Given the description of an element on the screen output the (x, y) to click on. 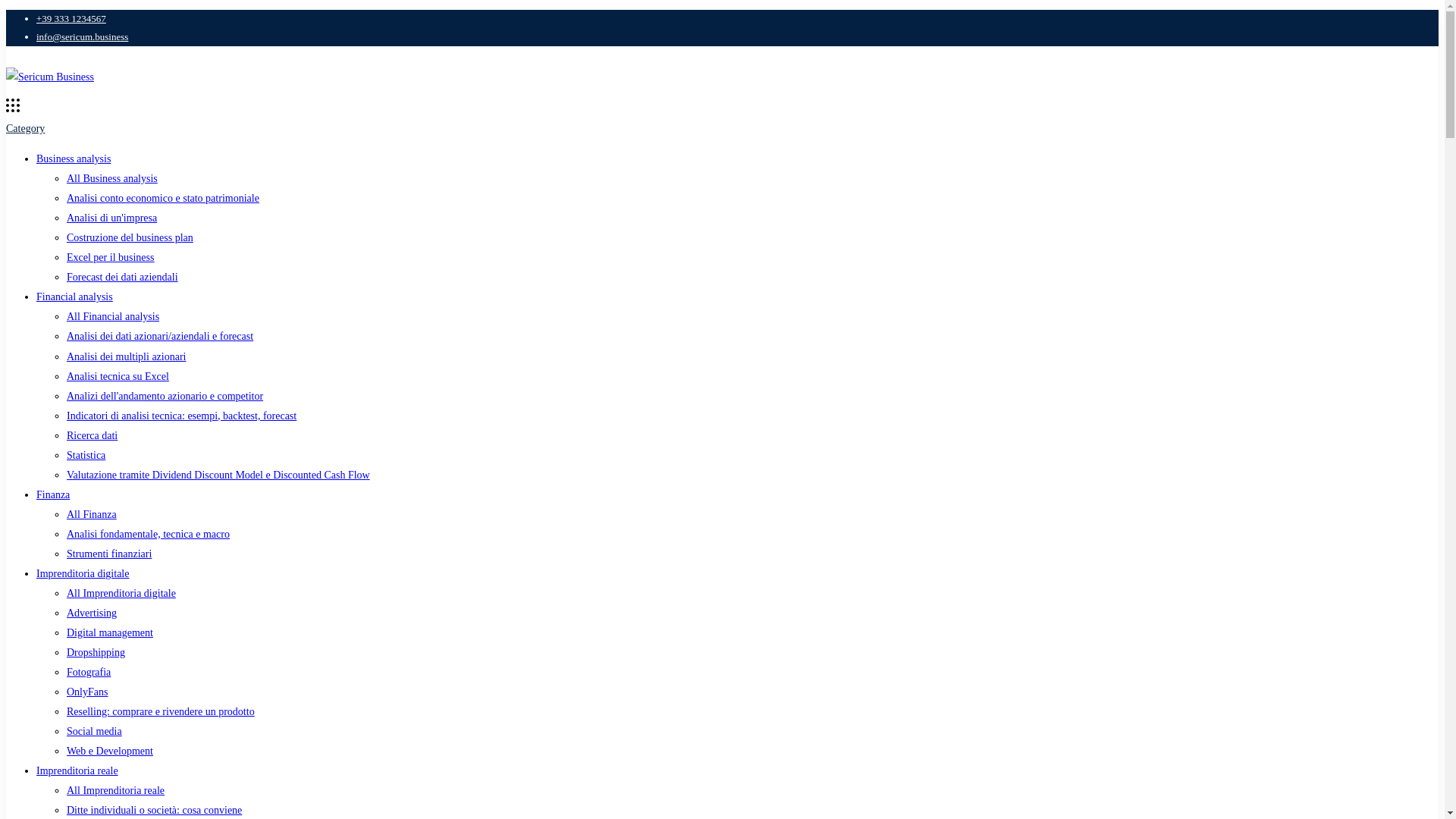
Advertising (91, 613)
Web e Development (109, 750)
Ricerca dati (91, 435)
Business analysis (73, 158)
Social media (94, 731)
OnlyFans (86, 691)
Analisi di un'impresa (111, 217)
All Imprenditoria reale (115, 790)
Analisi dei multipli azionari (126, 355)
Dropshipping (95, 652)
Imprenditoria reale (76, 770)
Analisi fondamentale, tecnica e macro (148, 533)
Excel per il business (110, 256)
Financial analysis (74, 296)
Costruzione del business plan (129, 237)
